Given the description of an element on the screen output the (x, y) to click on. 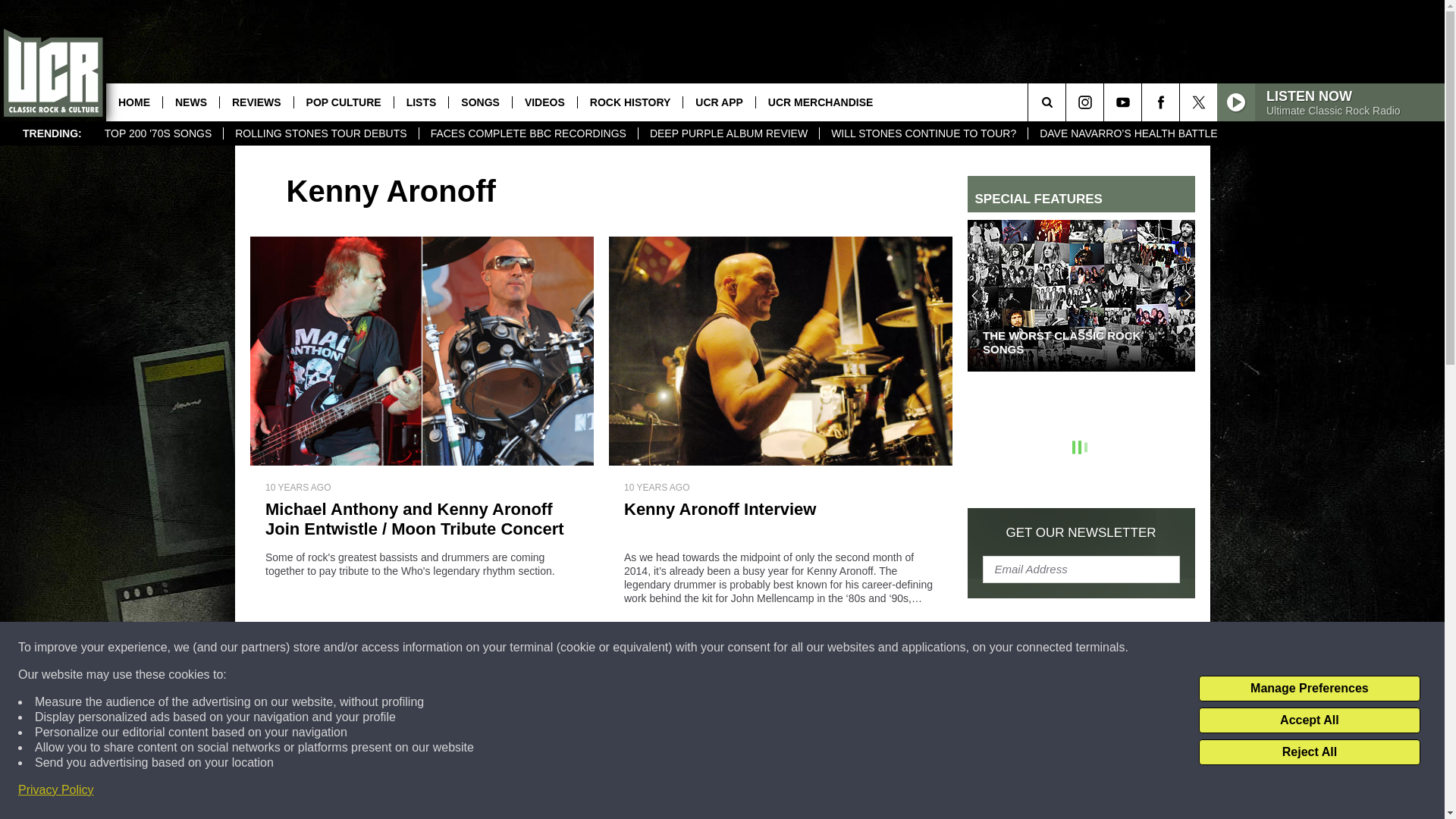
Visit us on Facebook (1160, 102)
ROCK HISTORY (629, 102)
NEWS (190, 102)
SONGS (480, 102)
SEARCH (1068, 102)
WILL STONES CONTINUE TO TOUR? (922, 133)
Visit us on Instagram (1084, 102)
SEARCH (1068, 102)
Email Address (1080, 568)
UCR MERCHANDISE (820, 102)
VIDEOS (544, 102)
Manage Preferences (1309, 688)
LISTS (420, 102)
REVIEWS (256, 102)
Reject All (1309, 751)
